Given the description of an element on the screen output the (x, y) to click on. 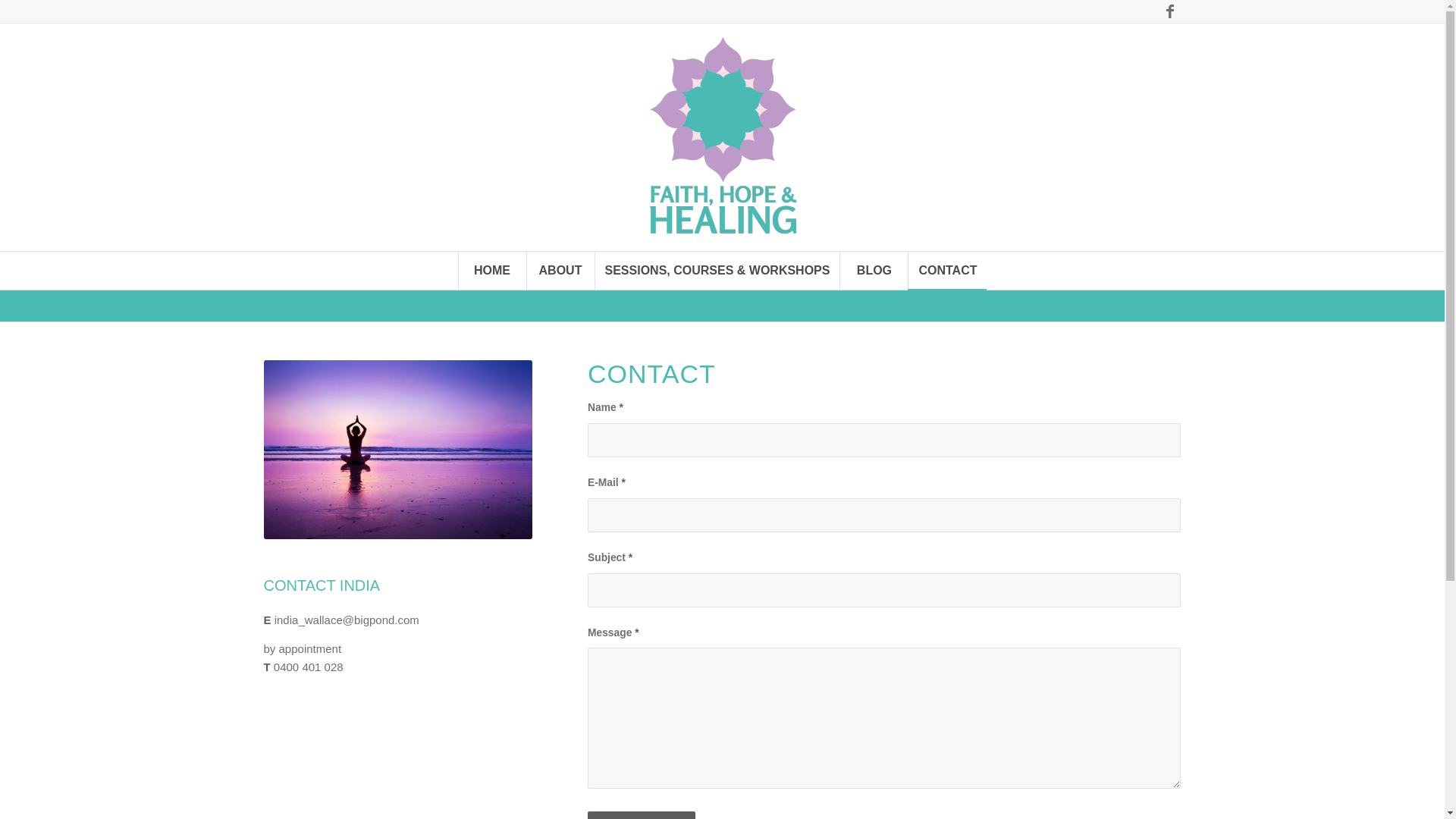
CONTACT Element type: text (946, 270)
SESSIONS, COURSES & WORKSHOPS Element type: text (717, 270)
HOME Element type: text (492, 270)
ABOUT Element type: text (560, 270)
BLOG Element type: text (873, 270)
purple-meditation Element type: hover (398, 449)
Facebook Element type: hover (1169, 11)
